Given the description of an element on the screen output the (x, y) to click on. 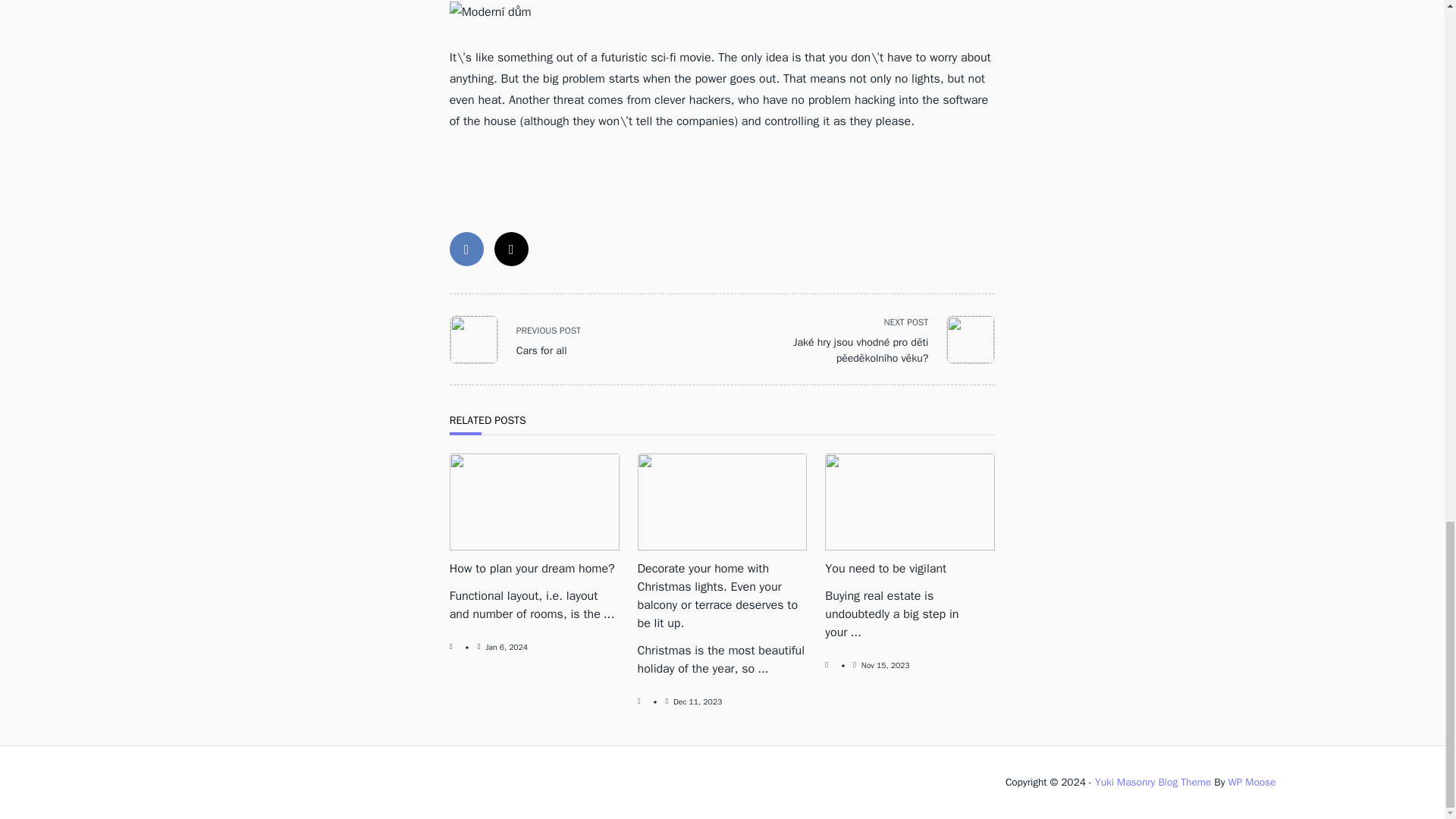
Jan 6, 2024 (523, 339)
How to plan your dream home? (505, 646)
Dec 11, 2023 (531, 568)
